Given the description of an element on the screen output the (x, y) to click on. 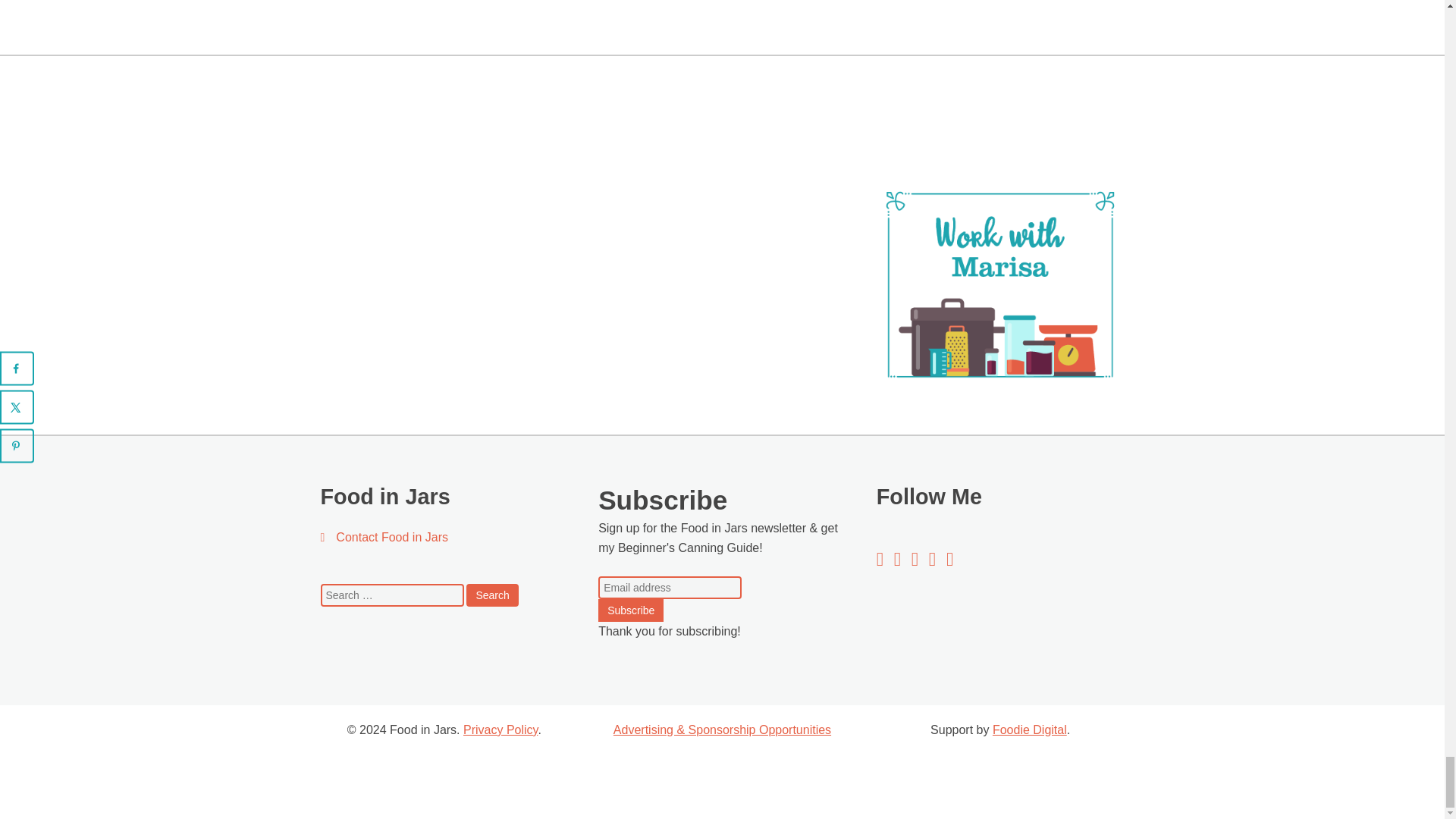
work-with-marisa (1000, 285)
Search (491, 594)
join-the-community (721, 276)
Search (491, 594)
marisa-recommends (443, 276)
